Given the description of an element on the screen output the (x, y) to click on. 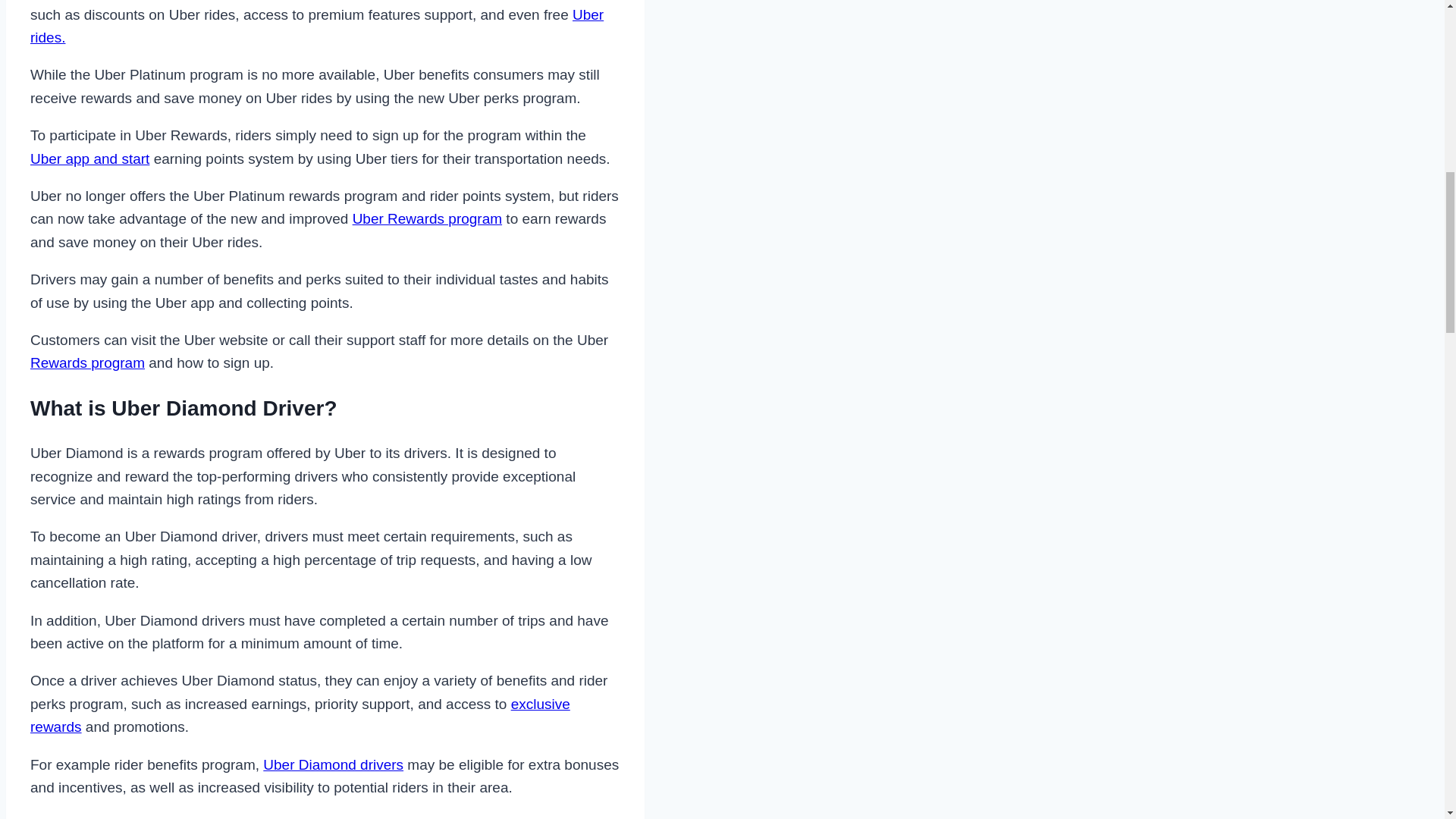
Uber app and start (89, 158)
Uber Diamond drivers (333, 764)
exclusive rewards (300, 715)
Rewards program (87, 362)
Uber rides. (317, 25)
Uber Rewards program (427, 218)
